Given the description of an element on the screen output the (x, y) to click on. 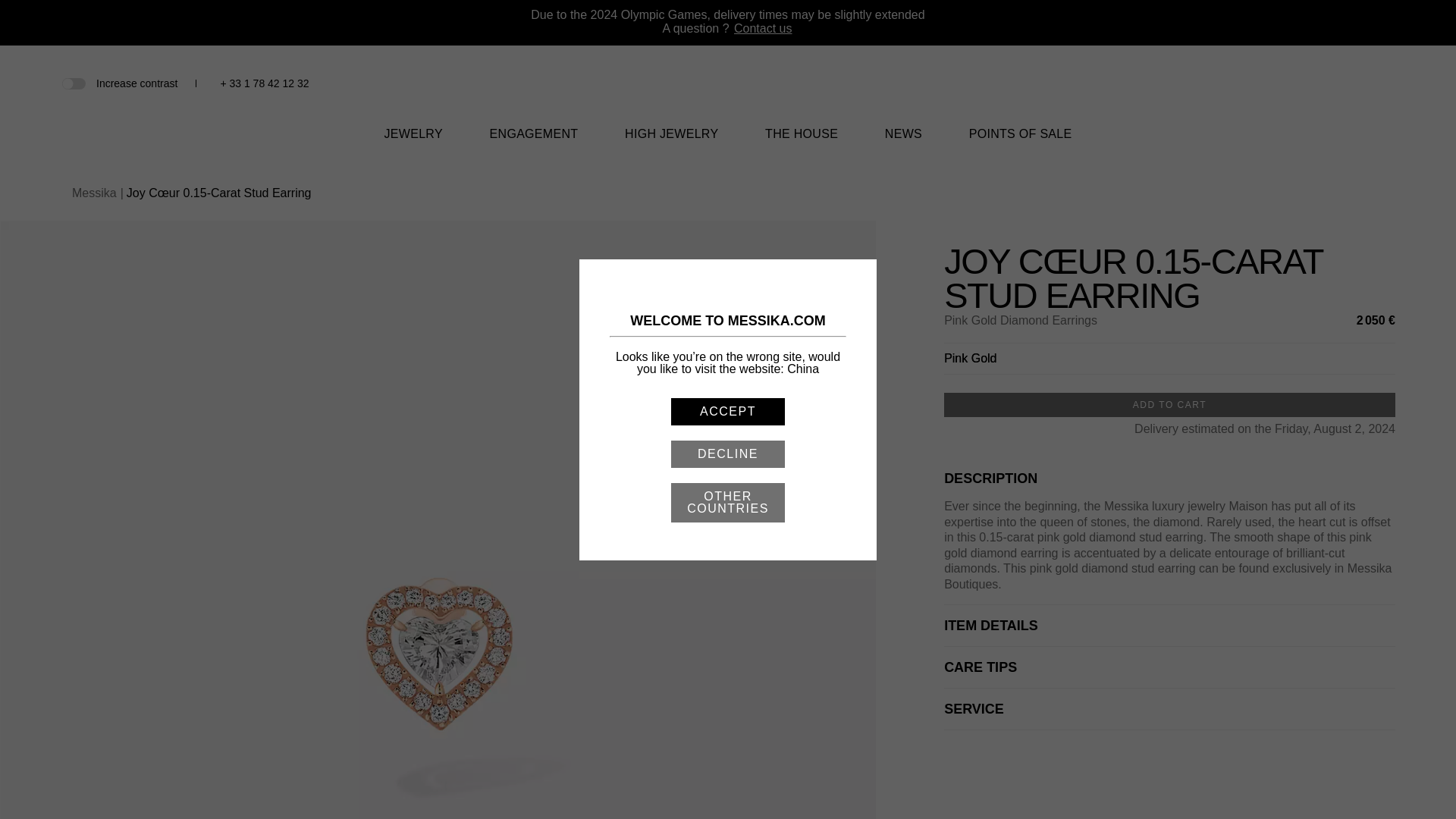
Contact us (762, 28)
on (73, 82)
Messika (727, 103)
Wishlist (1335, 84)
Wishlist (1335, 83)
JEWELRY (413, 142)
Opens a widget where you can find more information (1398, 792)
Shopping Cart (1360, 84)
Messika (727, 92)
Search (1310, 84)
